Given the description of an element on the screen output the (x, y) to click on. 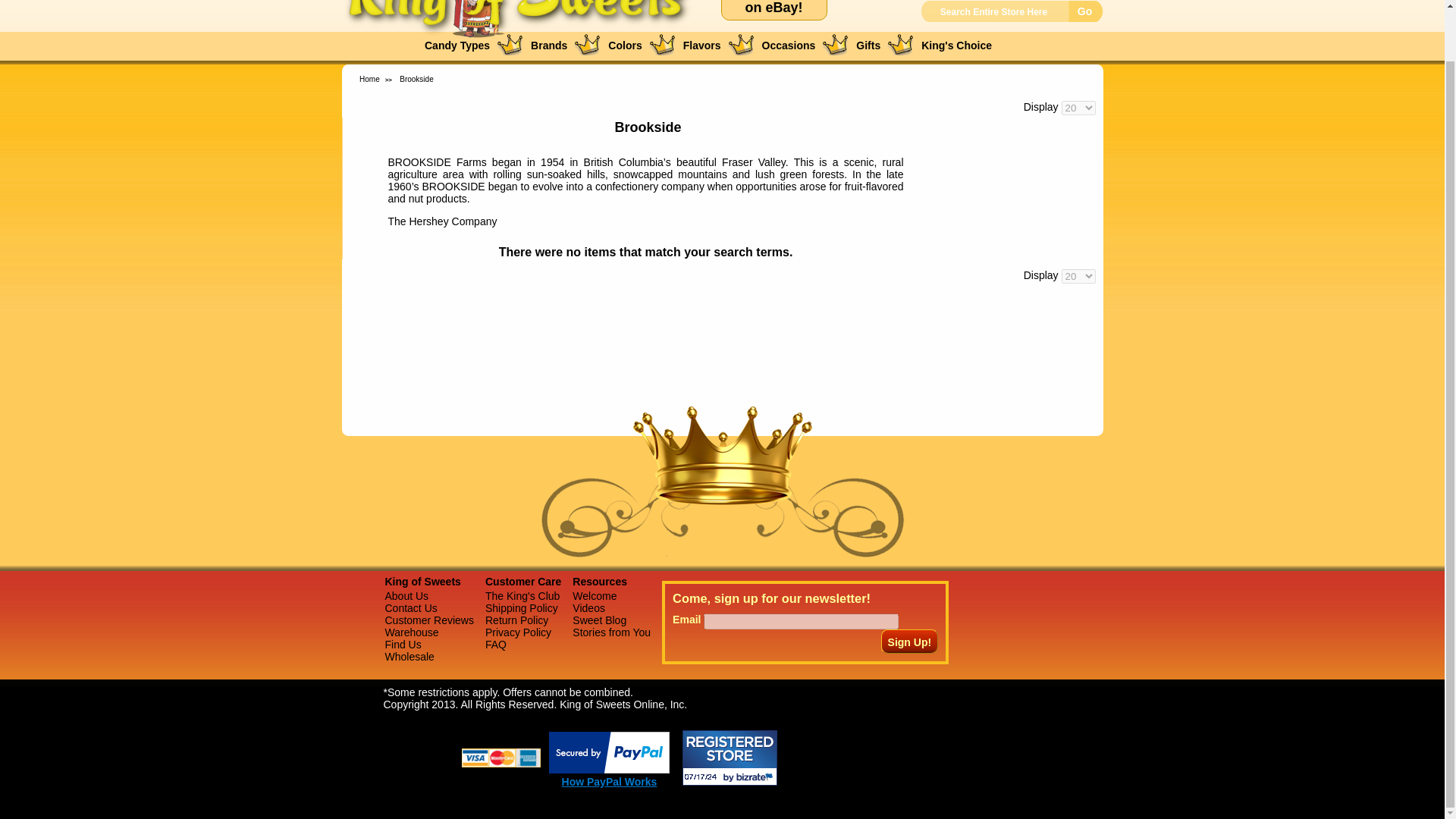
Return Policy (516, 620)
Warehouse (412, 632)
Shipping Policy (520, 607)
The King's Club (521, 595)
Customer Reviews (429, 620)
Warehouse (409, 656)
Find Us (403, 644)
Home (517, 35)
Contact Us (411, 607)
About Us (407, 595)
Candy Types (456, 45)
Privacy Policy (517, 632)
